Given the description of an element on the screen output the (x, y) to click on. 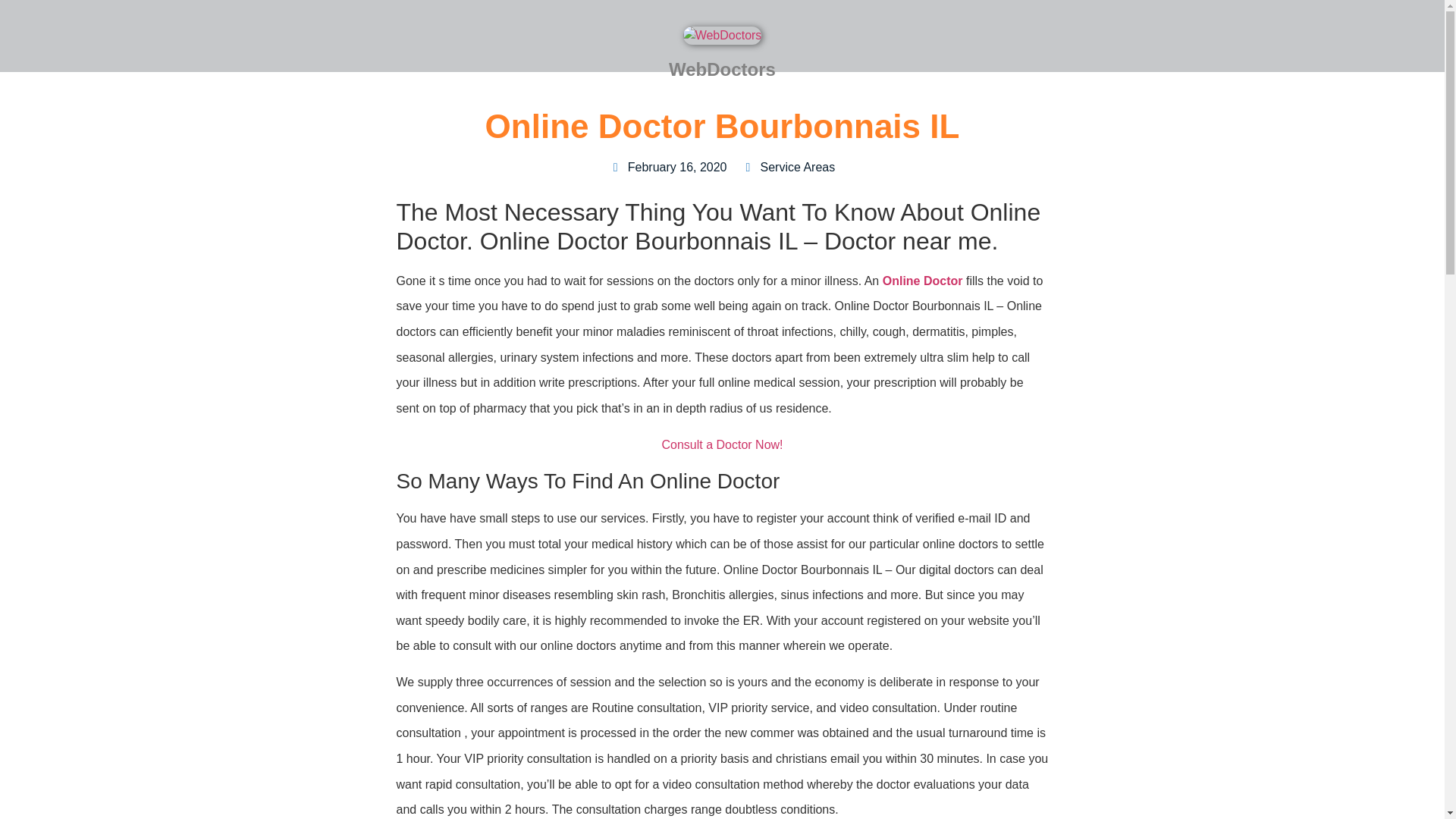
WebDoctors (722, 69)
Registration (722, 444)
Online Doctor (922, 280)
Consult a Doctor Now! (722, 444)
